Given the description of an element on the screen output the (x, y) to click on. 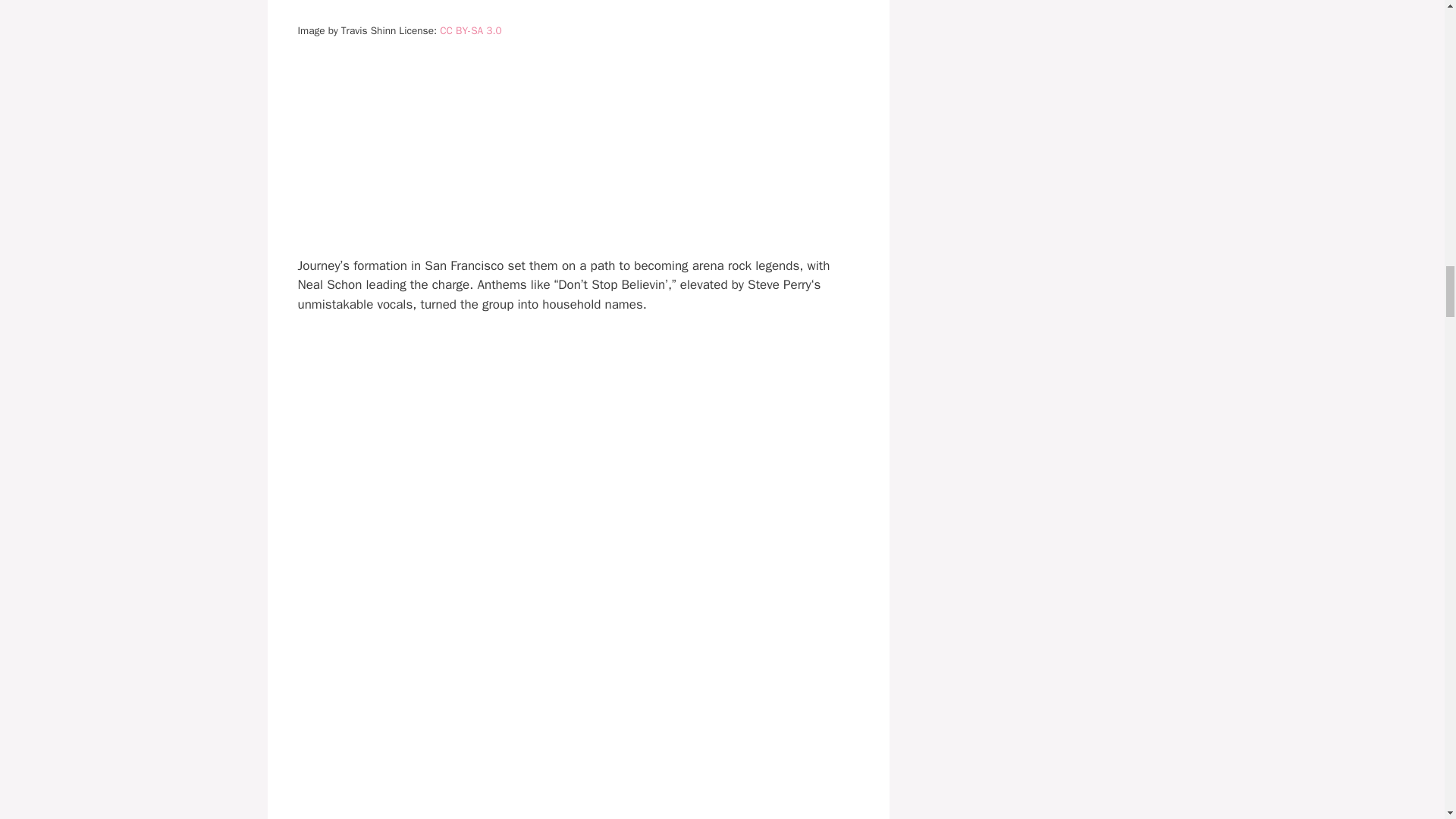
CC BY-SA 3.0 (469, 30)
